Given the description of an element on the screen output the (x, y) to click on. 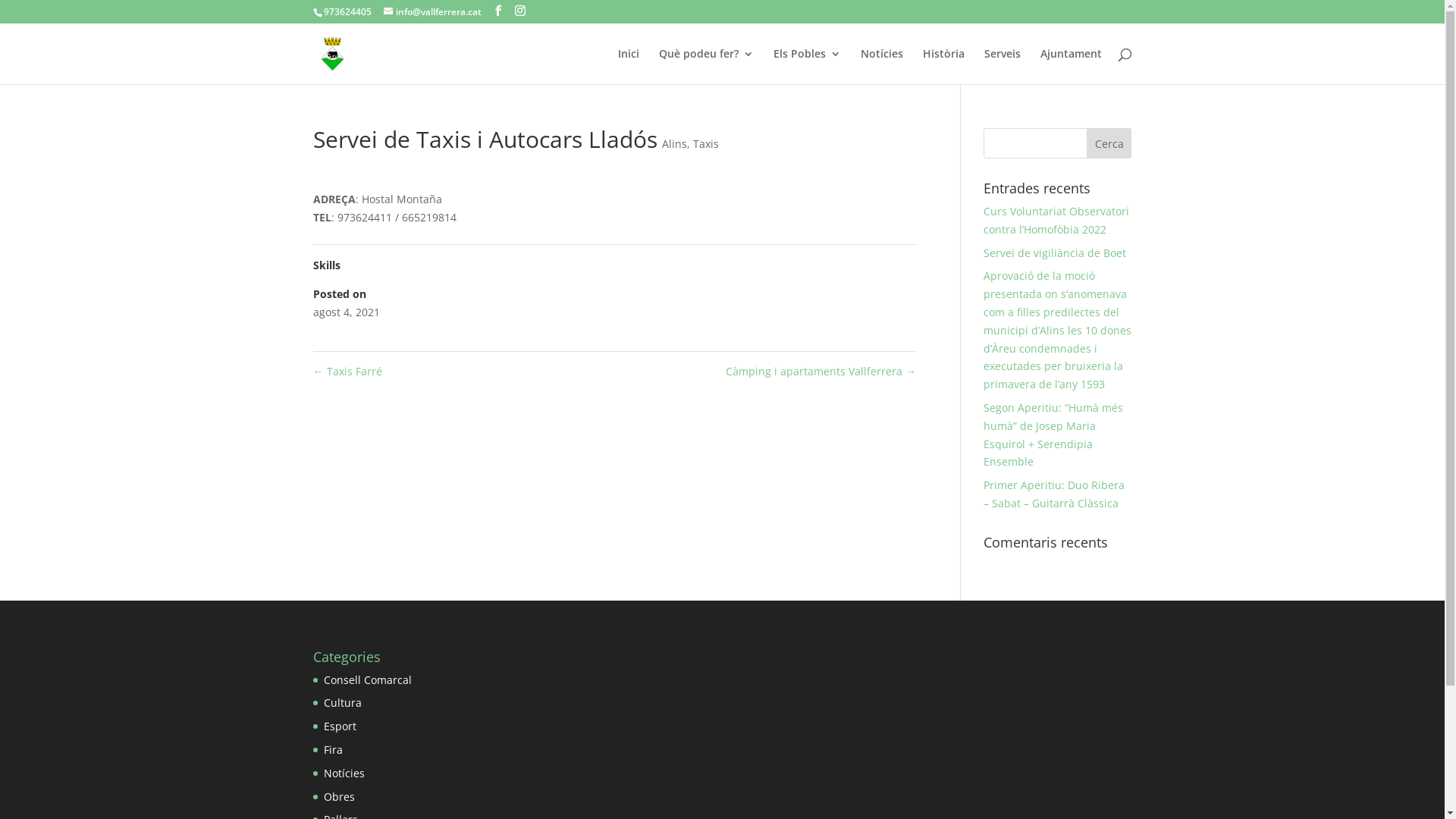
Els Pobles Element type: text (806, 66)
Obres Element type: text (338, 796)
Serveis Element type: text (1002, 66)
Fira Element type: text (332, 749)
Inici Element type: text (627, 66)
Ajuntament Element type: text (1070, 66)
Alins Element type: text (673, 143)
Cerca Element type: text (1109, 143)
Consell Comarcal Element type: text (367, 679)
info@vallferrera.cat Element type: text (432, 11)
Taxis Element type: text (705, 143)
Cultura Element type: text (341, 702)
Esport Element type: text (339, 725)
